Given the description of an element on the screen output the (x, y) to click on. 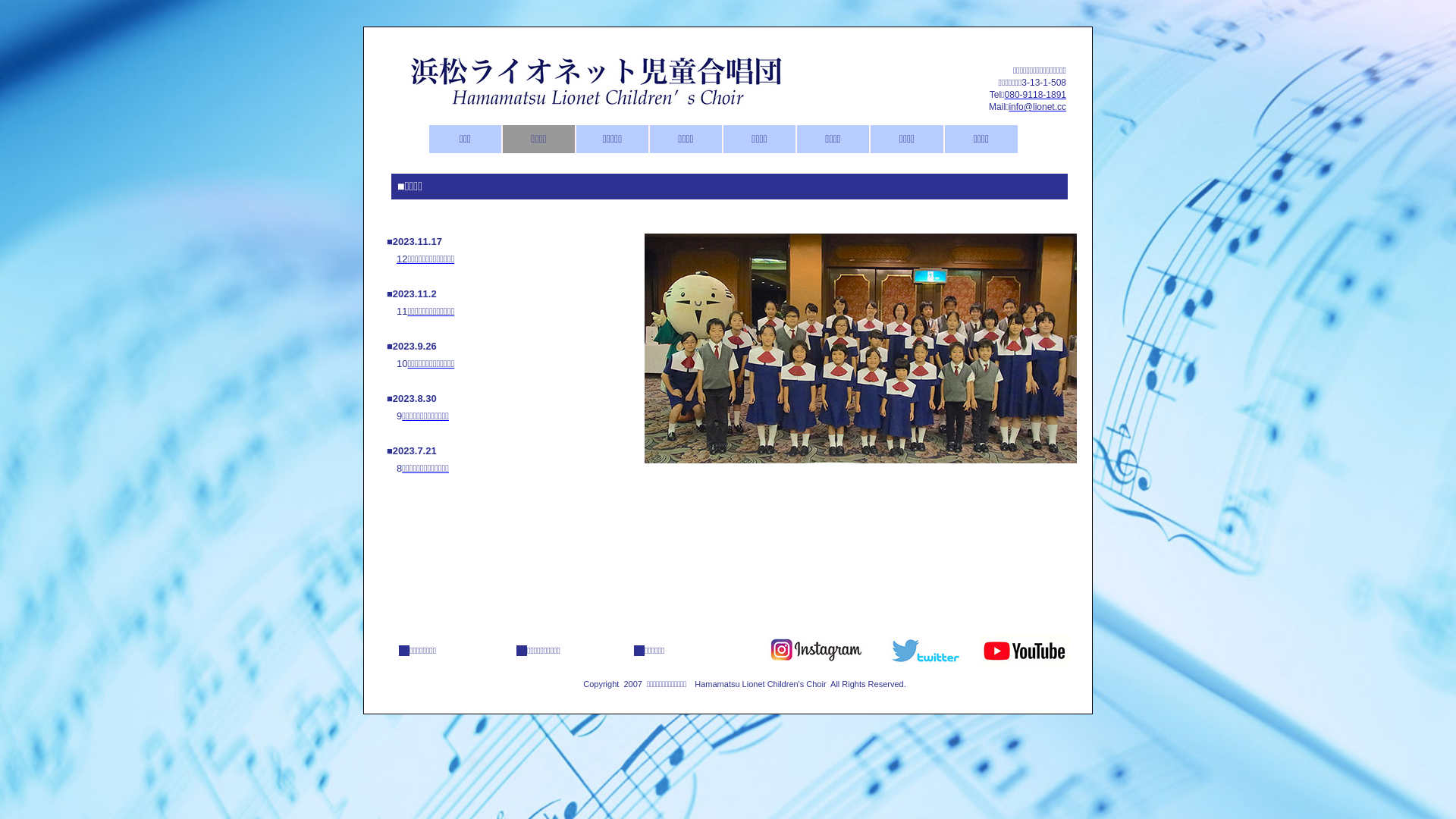
info@lionet.cc Element type: text (1037, 106)
080-9118-1891 Element type: text (1035, 94)
